Given the description of an element on the screen output the (x, y) to click on. 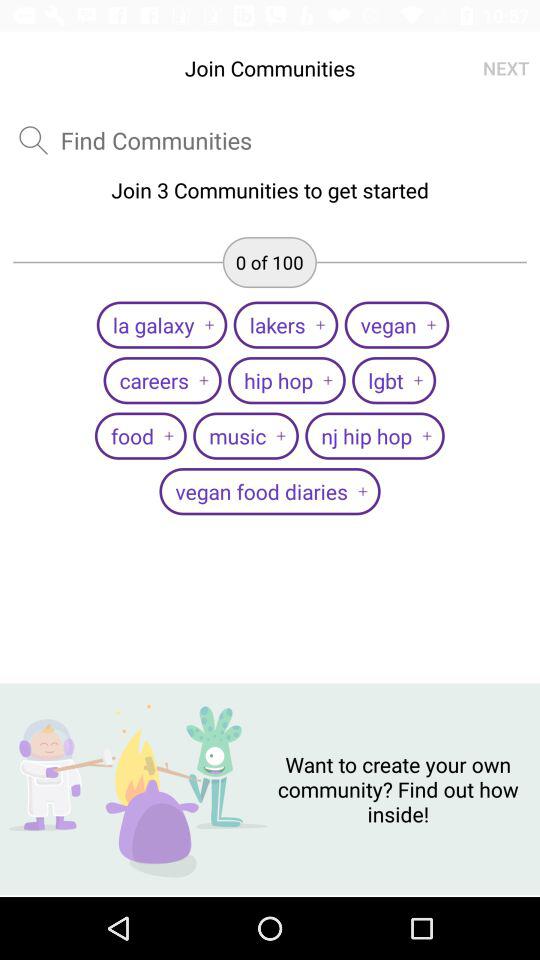
choose the item above join 3 communities icon (506, 67)
